Given the description of an element on the screen output the (x, y) to click on. 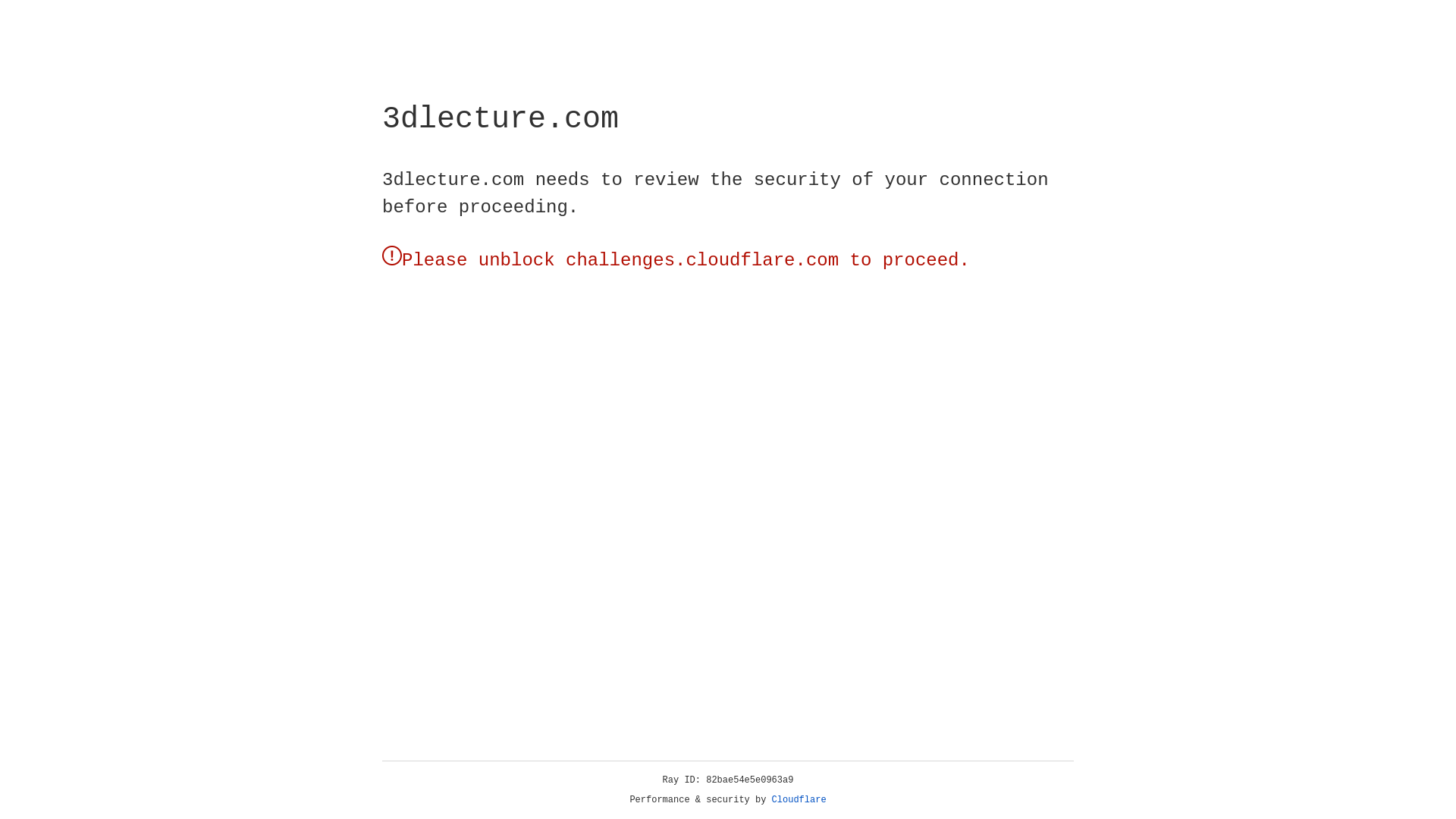
Cloudflare Element type: text (798, 799)
